Given the description of an element on the screen output the (x, y) to click on. 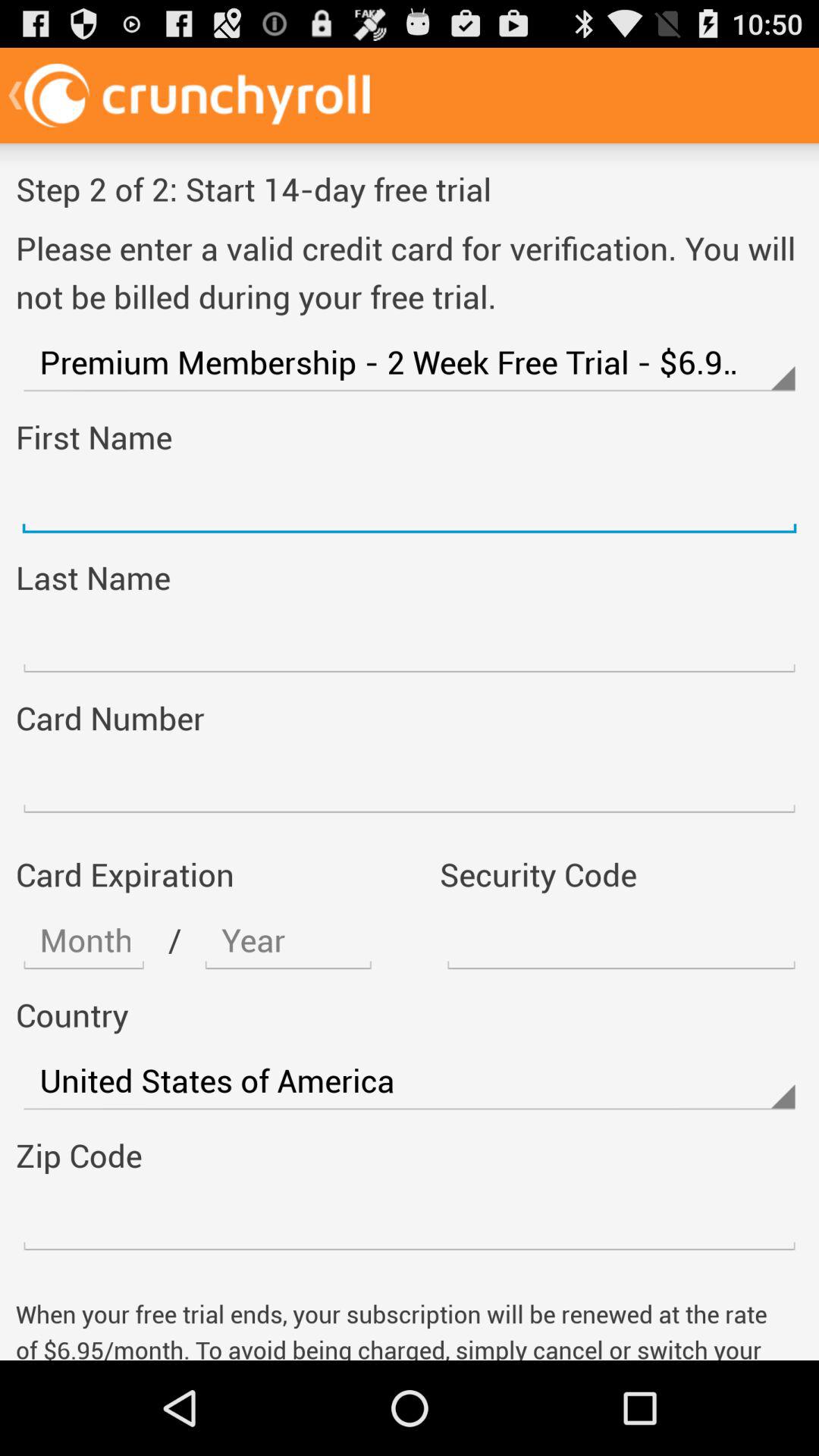
month (83, 940)
